Given the description of an element on the screen output the (x, y) to click on. 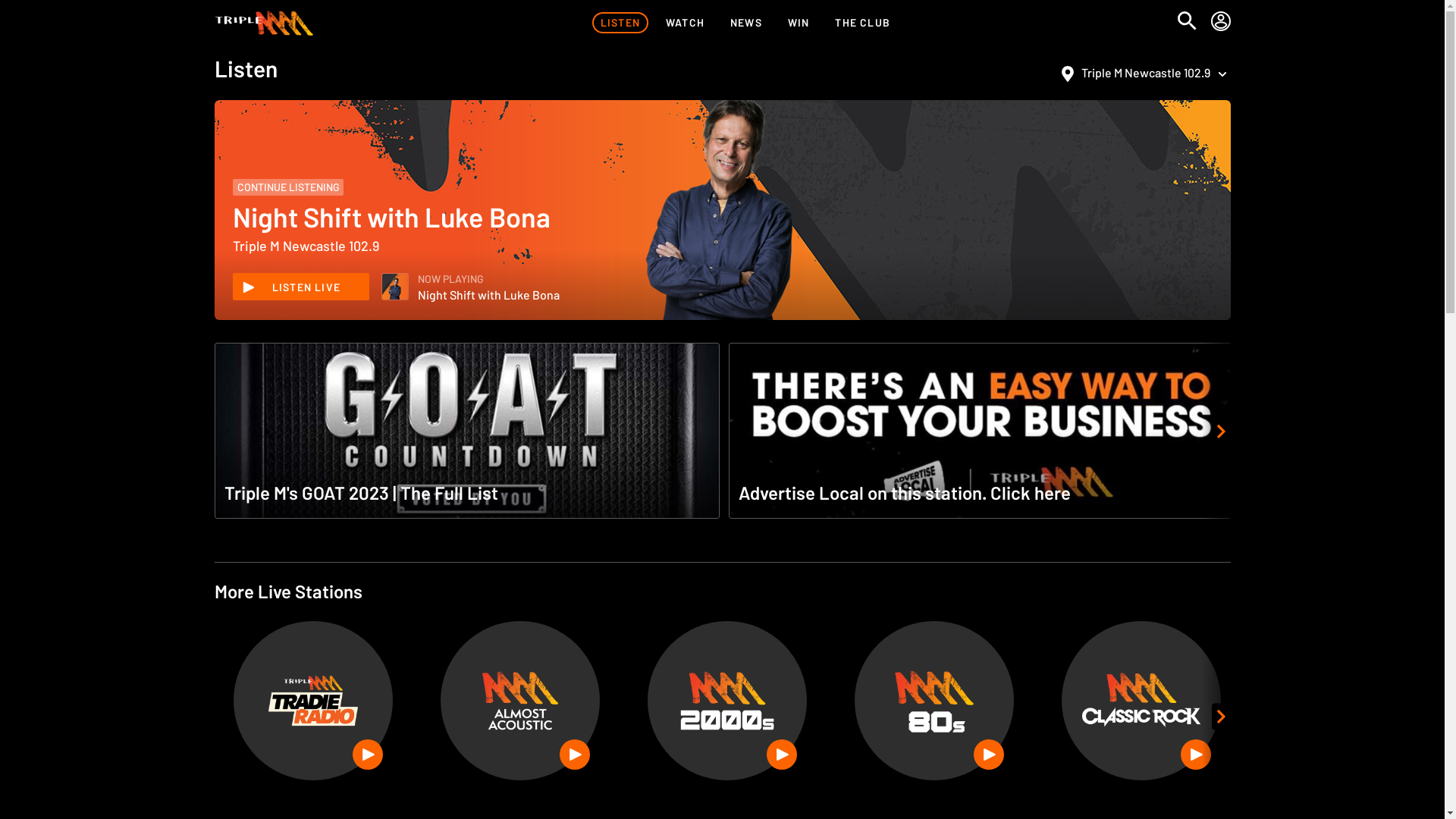
Triple M Element type: hover (263, 22)
LISTEN LIVE Element type: text (300, 286)
NEWS Element type: text (745, 22)
Triple M Classic Rock Element type: hover (1140, 700)
WATCH Element type: text (684, 22)
Triple M's GOAT 2023 | The Full List Element type: text (466, 431)
WIN Element type: text (798, 22)
LISTEN Element type: text (620, 22)
Triple M Almost Acoustic Element type: hover (519, 700)
Triple M Tradie Radio Element type: hover (312, 700)
Triple M 80s Element type: hover (933, 700)
Night Shift with Luke Bona Element type: hover (394, 287)
THE CLUB Element type: text (862, 22)
Triple M 2000s Element type: hover (726, 700)
Advertise Local on this station. Click here Element type: text (980, 431)
